Given the description of an element on the screen output the (x, y) to click on. 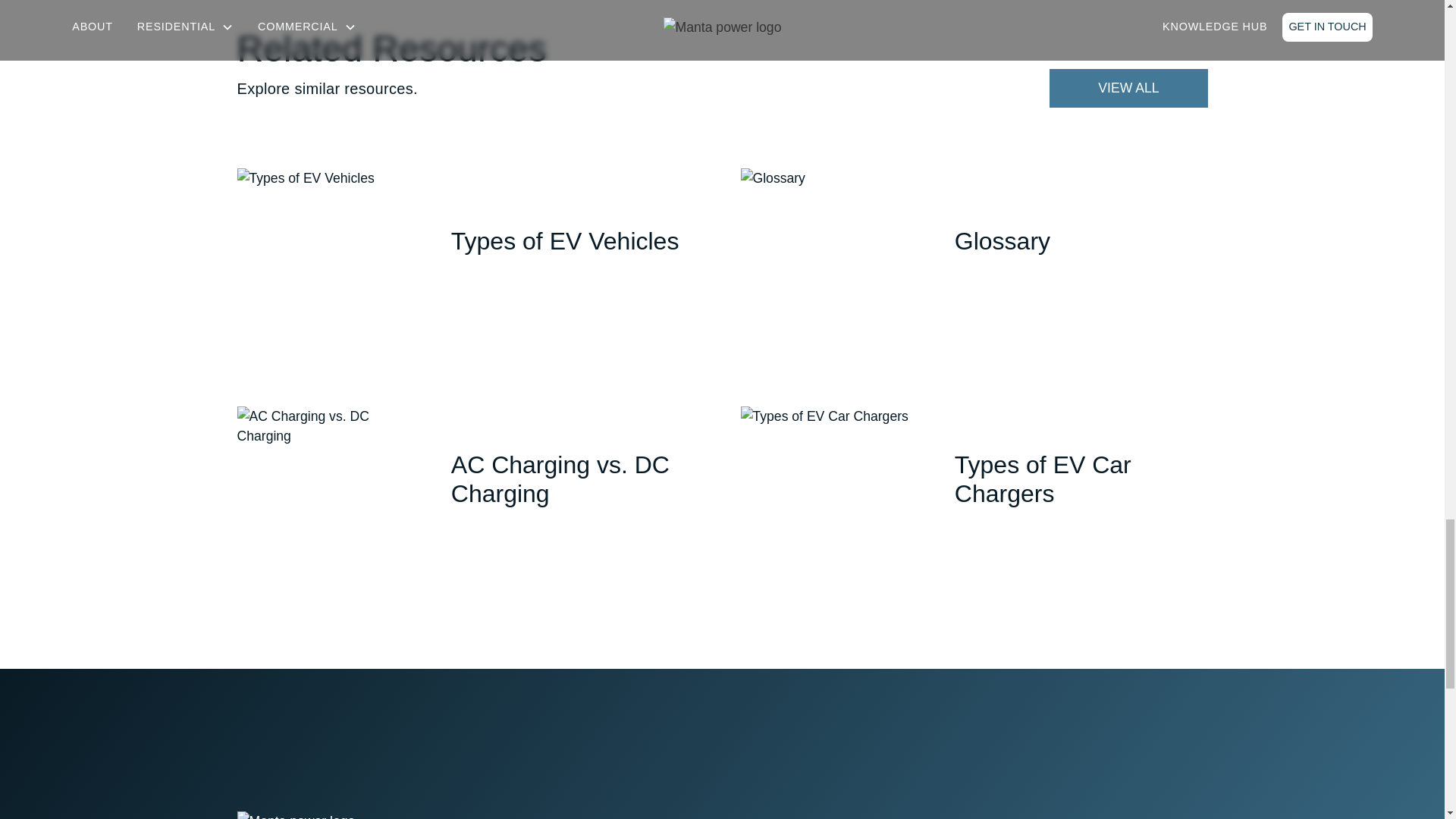
Types of EV Vehicles (577, 240)
VIEW ALL (1128, 87)
Types of EV Car Chargers (1081, 479)
AC Charging vs. DC Charging (577, 479)
Glossary (1081, 240)
Read more (993, 289)
Read more (490, 542)
Read more (490, 289)
